Given the description of an element on the screen output the (x, y) to click on. 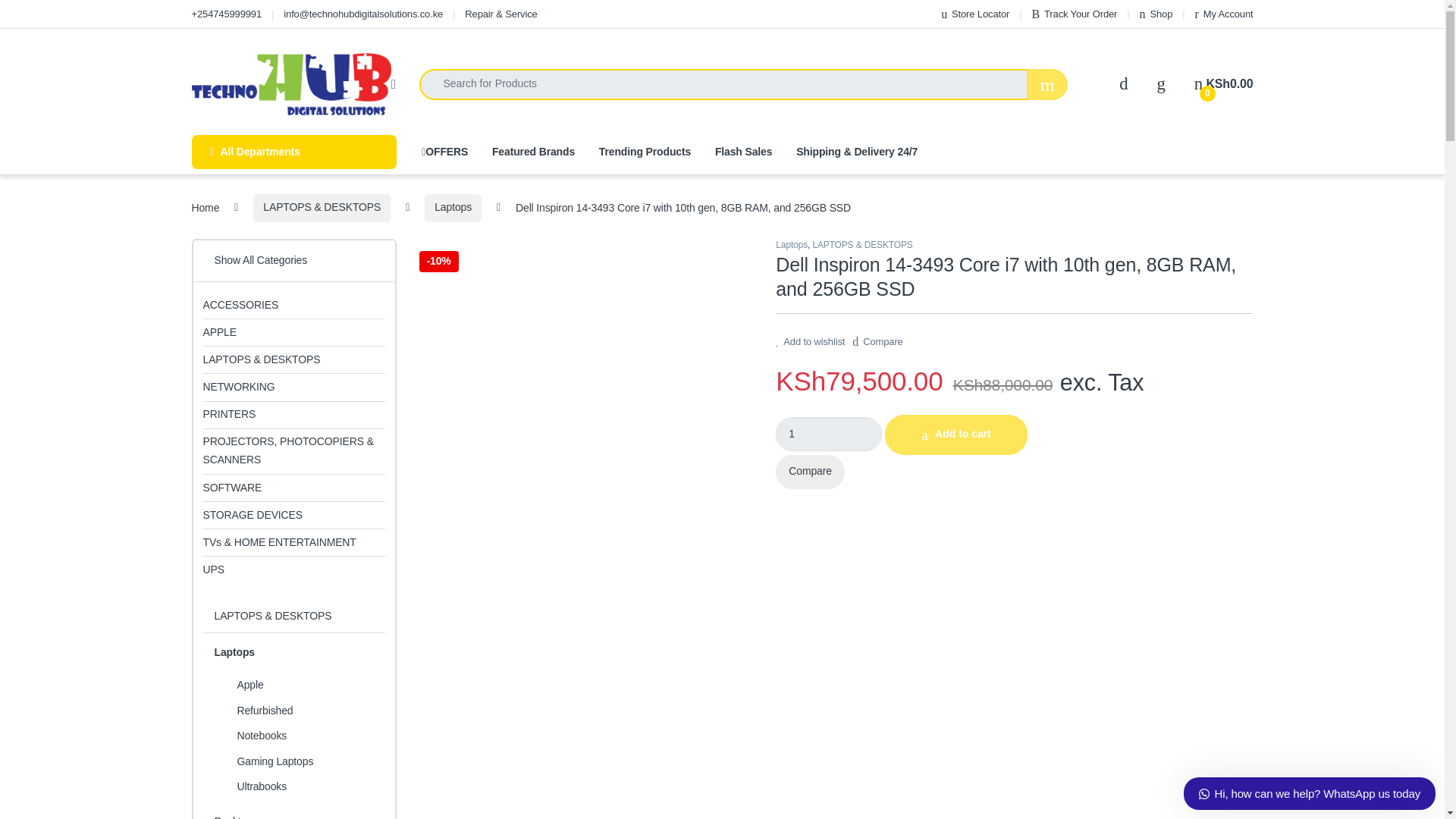
Store Locator (974, 13)
My Account (1224, 13)
Shop (1156, 13)
Track Your Order (1073, 13)
1 (829, 433)
Store Locator (974, 13)
My Account (1224, 13)
Shop (1156, 13)
Track Your Order (1073, 13)
